Given the description of an element on the screen output the (x, y) to click on. 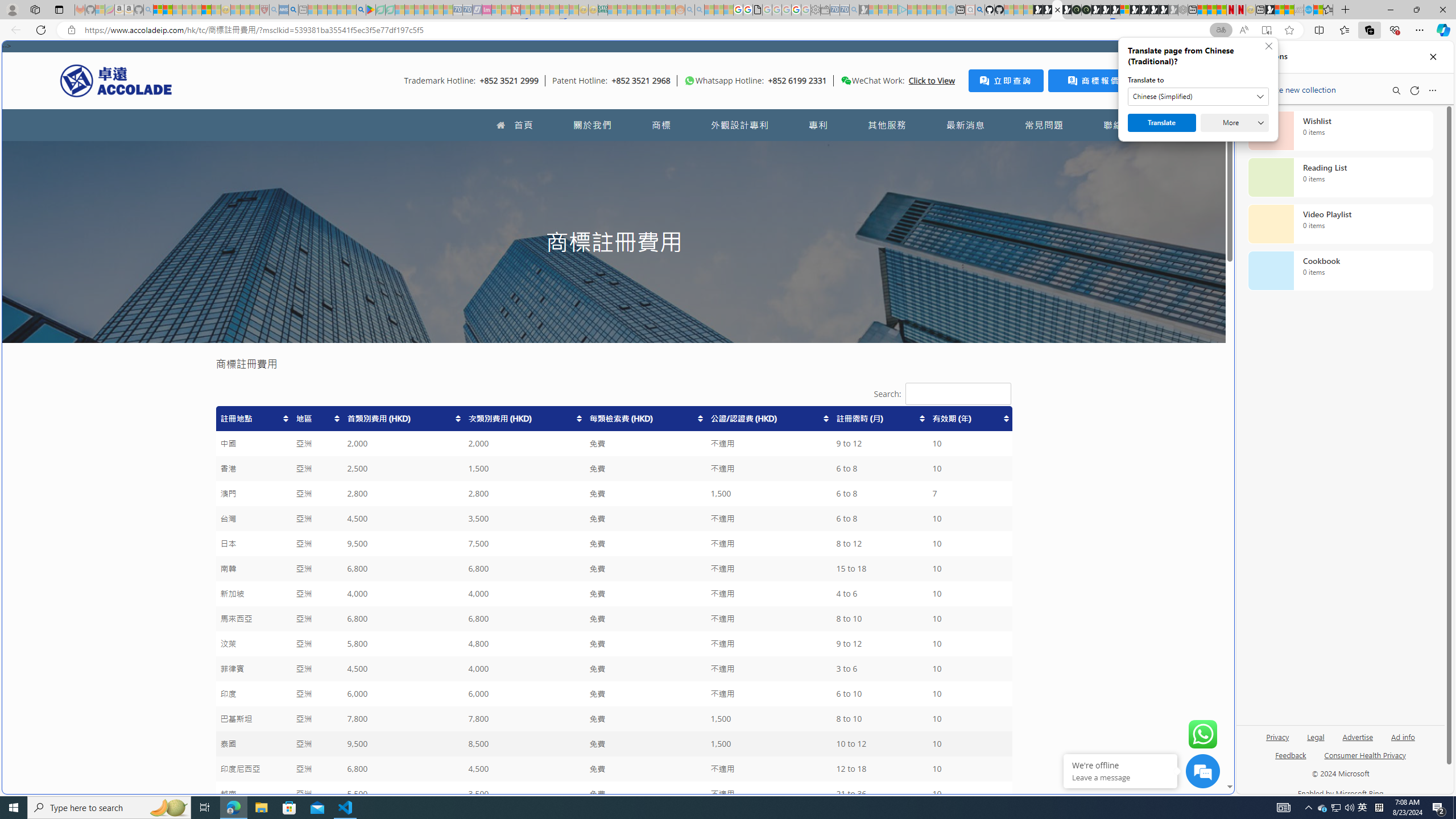
Home | Sky Blue Bikes - Sky Blue Bikes - Sleeping (950, 9)
Feedback (1291, 759)
4,500 (524, 769)
15 to 18 (879, 568)
More (1234, 122)
Jobs - lastminute.com Investor Portal - Sleeping (486, 9)
8,500 (524, 743)
